Given the description of an element on the screen output the (x, y) to click on. 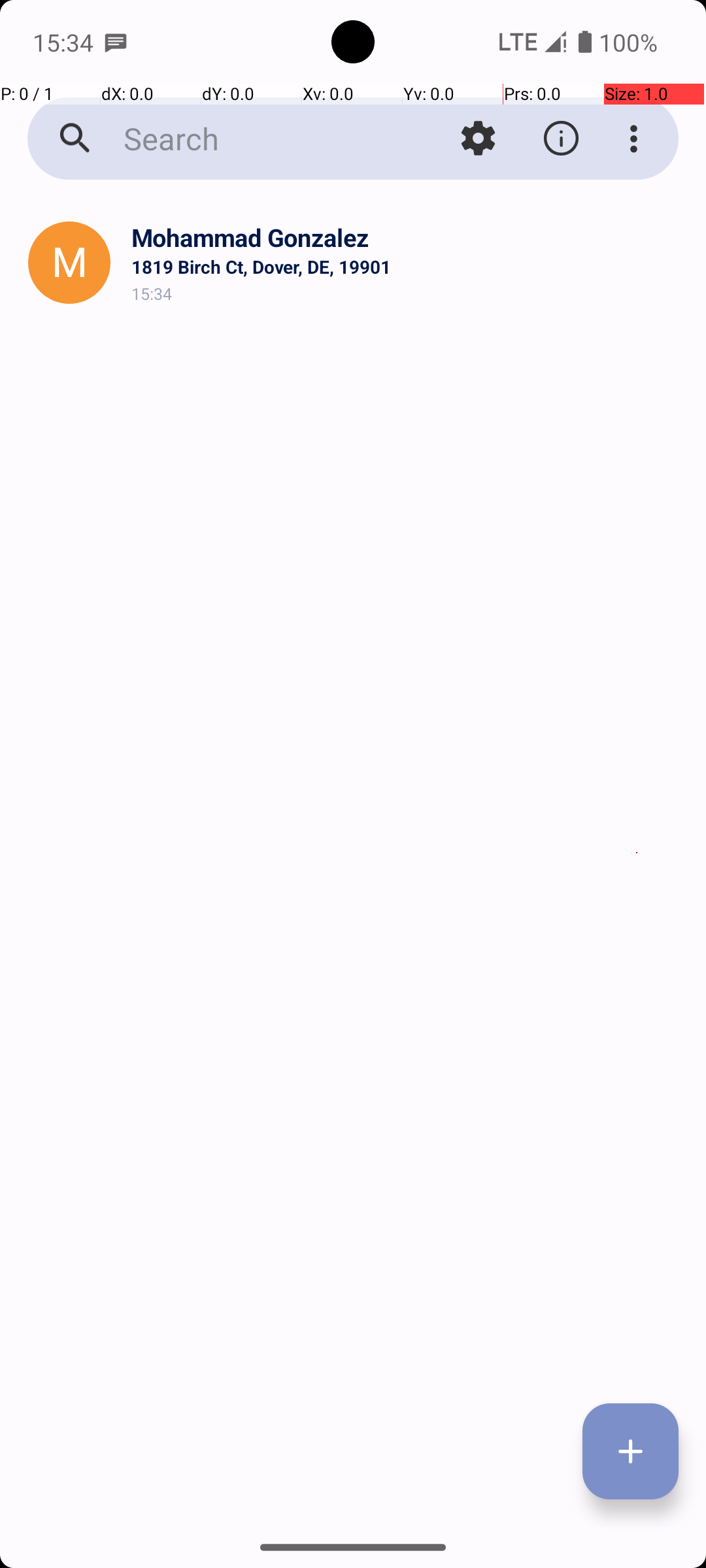
Mohammad Gonzalez Element type: android.widget.TextView (408, 237)
1819 Birch Ct, Dover, DE, 19901 Element type: android.widget.TextView (408, 266)
SMS Messenger notification: Mohammad Gonzalez Element type: android.widget.ImageView (115, 41)
